Given the description of an element on the screen output the (x, y) to click on. 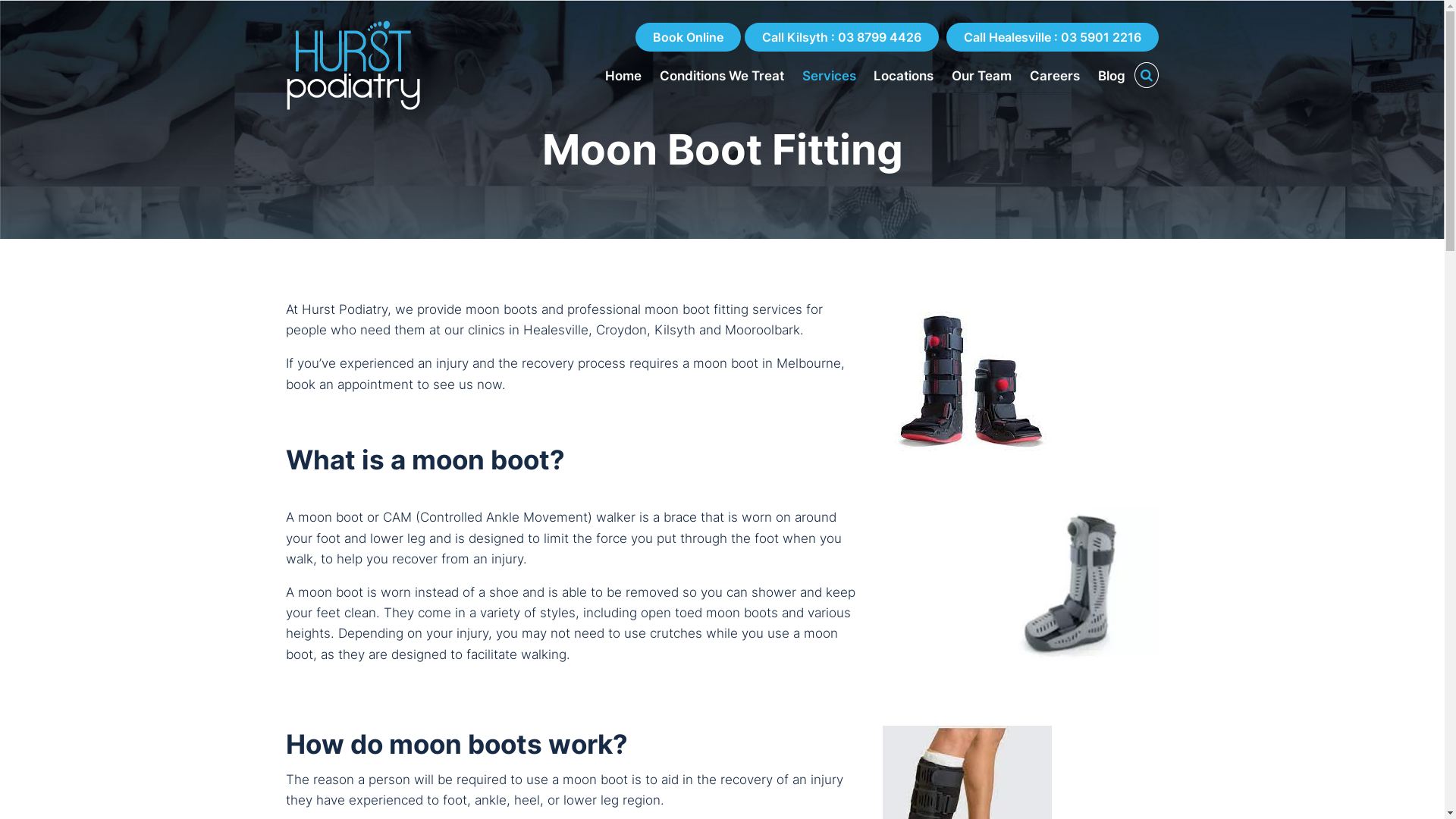
Our Team Element type: text (981, 75)
Call Kilsyth : 03 8799 4426 Element type: text (841, 36)
Book Online Element type: text (687, 36)
Blog Element type: text (1111, 75)
Conditions We Treat Element type: text (721, 75)
Locations Element type: text (903, 75)
Call Healesville : 03 5901 2216 Element type: text (1052, 36)
Home Element type: text (623, 75)
Careers Element type: text (1054, 75)
Services Element type: text (829, 75)
